Given the description of an element on the screen output the (x, y) to click on. 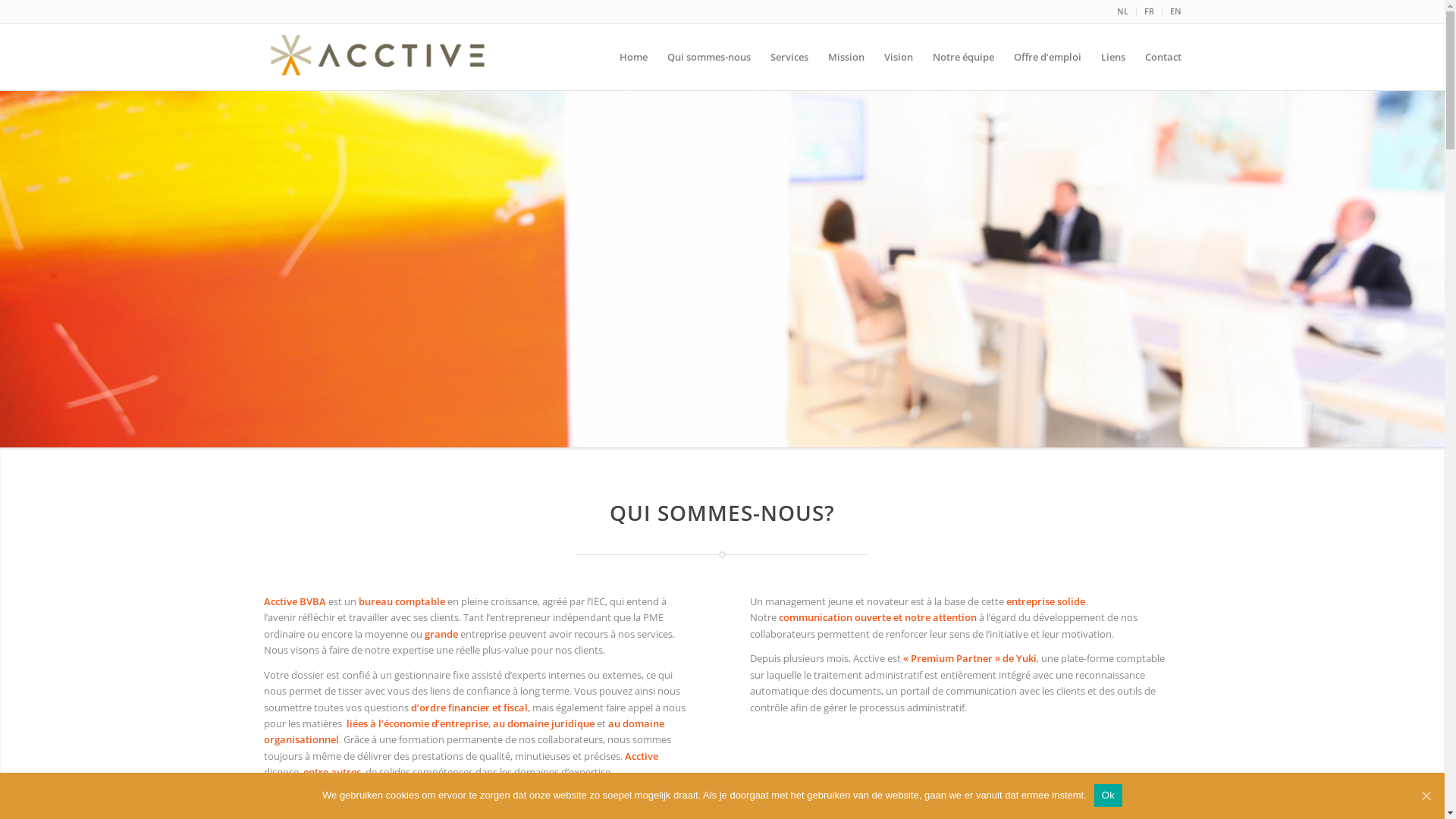
NL Element type: text (1121, 10)
QUI SOMMES-NOUS? Element type: text (721, 512)
Home Element type: text (633, 56)
EN Element type: text (1174, 10)
Mission Element type: text (845, 56)
Vision Element type: text (897, 56)
Contact Element type: text (1157, 56)
Ok Element type: text (1108, 795)
Qui sommes-nous Element type: text (707, 56)
FR Element type: text (1148, 10)
Liens Element type: text (1112, 56)
Services Element type: text (788, 56)
